Given the description of an element on the screen output the (x, y) to click on. 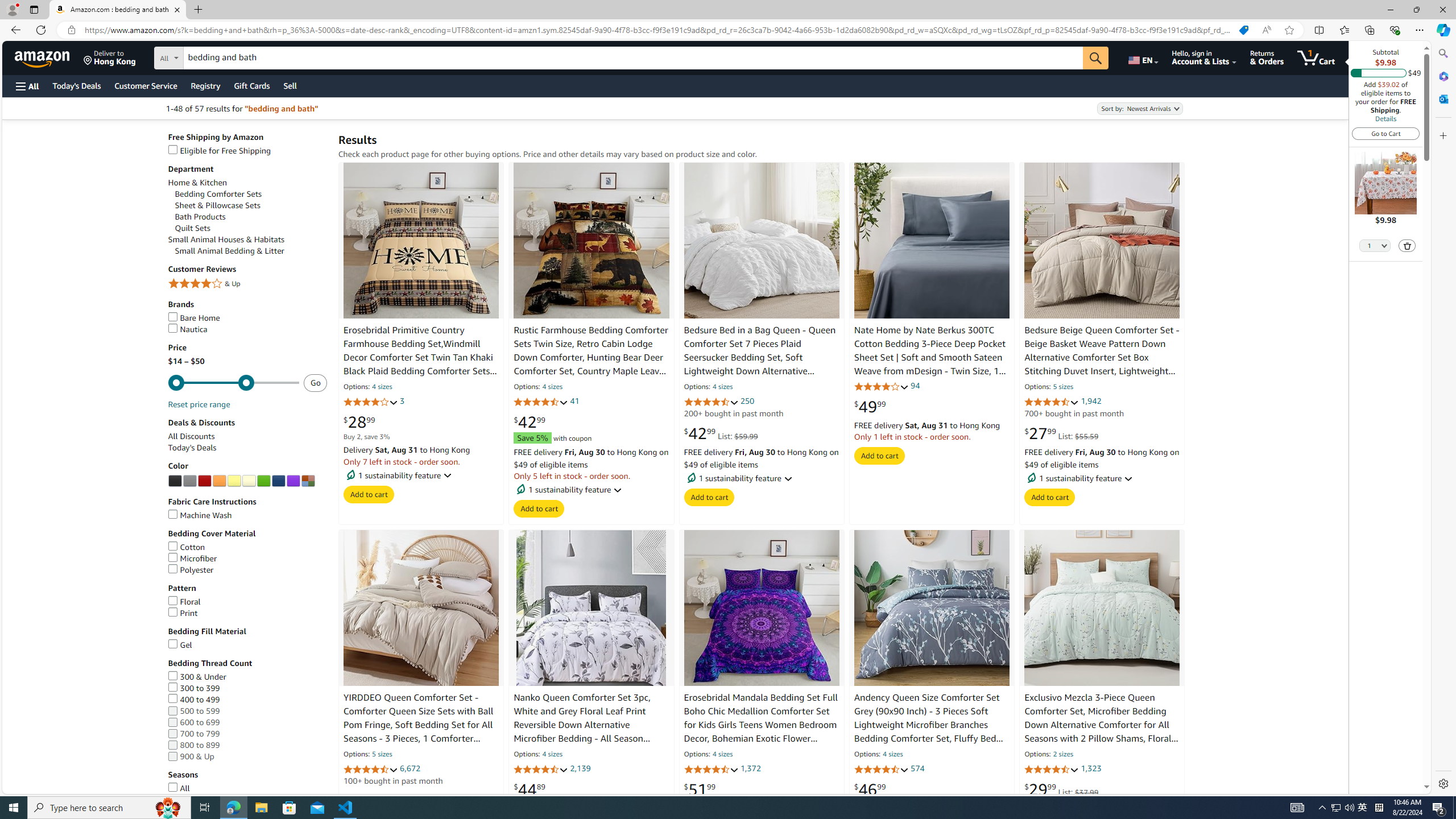
$46.99 (869, 789)
Add to cart (1049, 497)
Side bar (1443, 418)
Cotton (247, 547)
3.9 out of 5 stars (880, 386)
Sheet & Pillowcase Sets (217, 205)
$44.99 (359, 801)
Delete (1407, 245)
